Given the description of an element on the screen output the (x, y) to click on. 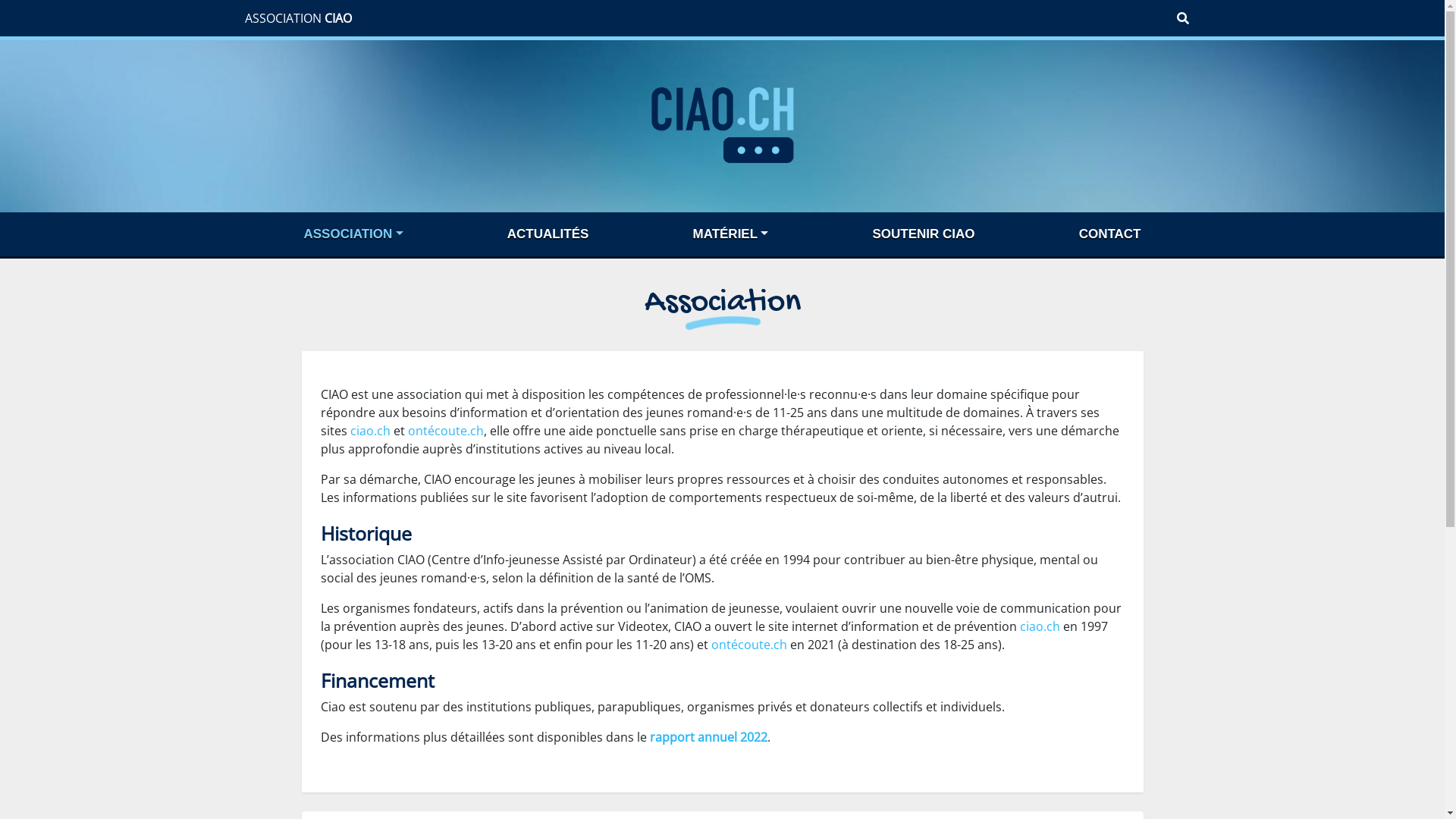
ASSOCIATION CIAO Element type: text (297, 17)
ciao.ch Element type: text (1039, 626)
ASSOCIATION Element type: text (352, 234)
SOUTENIR CIAO Element type: text (923, 234)
CONTACT Element type: text (1110, 234)
rapport annuel 2022 Element type: text (707, 736)
ciao.ch Element type: text (370, 430)
